Given the description of an element on the screen output the (x, y) to click on. 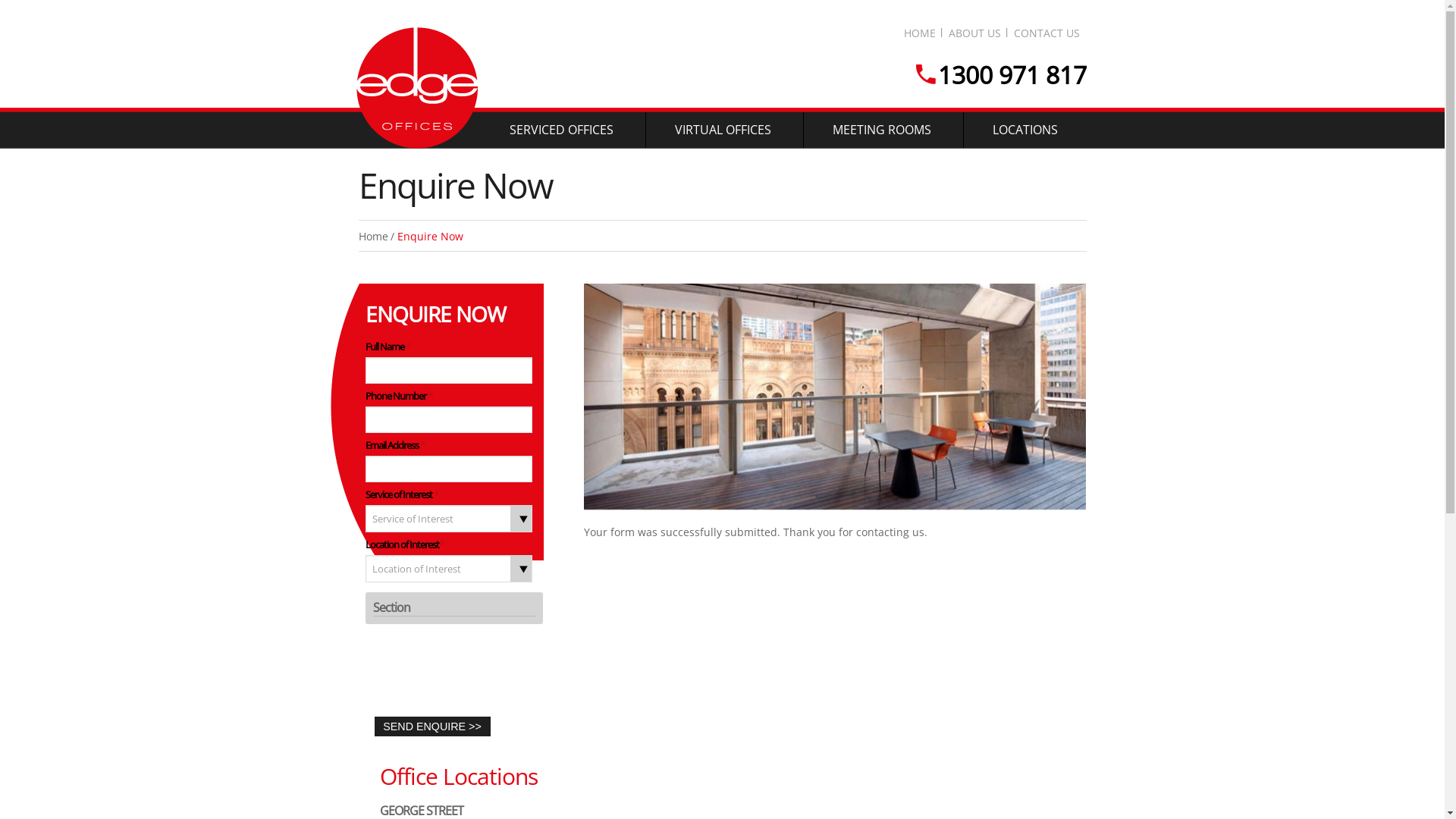
LOCATIONS Element type: text (1024, 129)
MEETING ROOMS Element type: text (881, 129)
CONTACT US Element type: text (1046, 32)
George Street Serviced Office Reception Element type: hover (834, 396)
Home Element type: text (372, 236)
VIRTUAL OFFICES Element type: text (722, 129)
HOME Element type: text (919, 32)
Send Enquire >> Element type: text (432, 726)
SERVICED OFFICES Element type: text (561, 129)
ABOUT US Element type: text (973, 32)
